Given the description of an element on the screen output the (x, y) to click on. 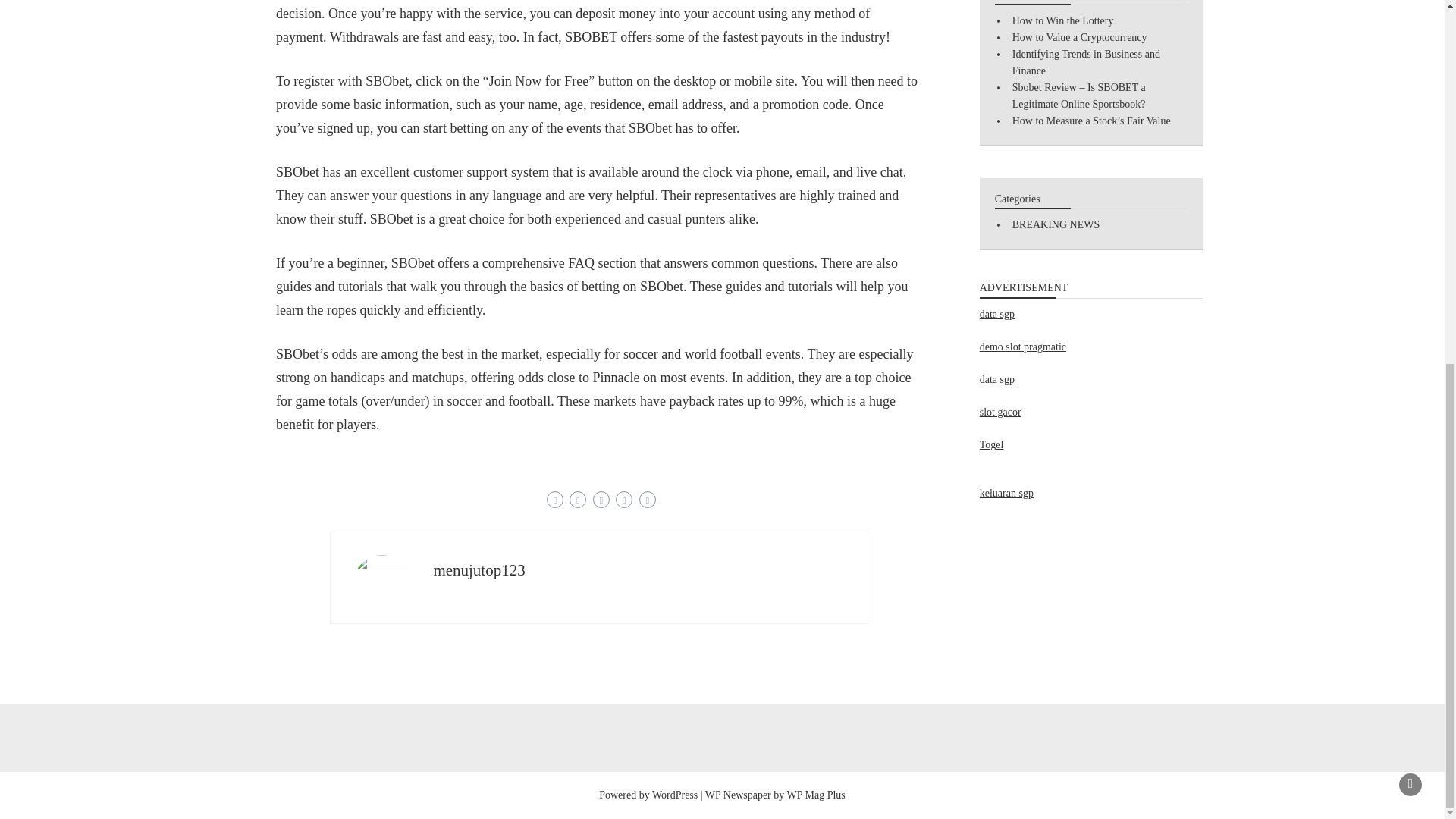
menujutop123 (478, 570)
